Given the description of an element on the screen output the (x, y) to click on. 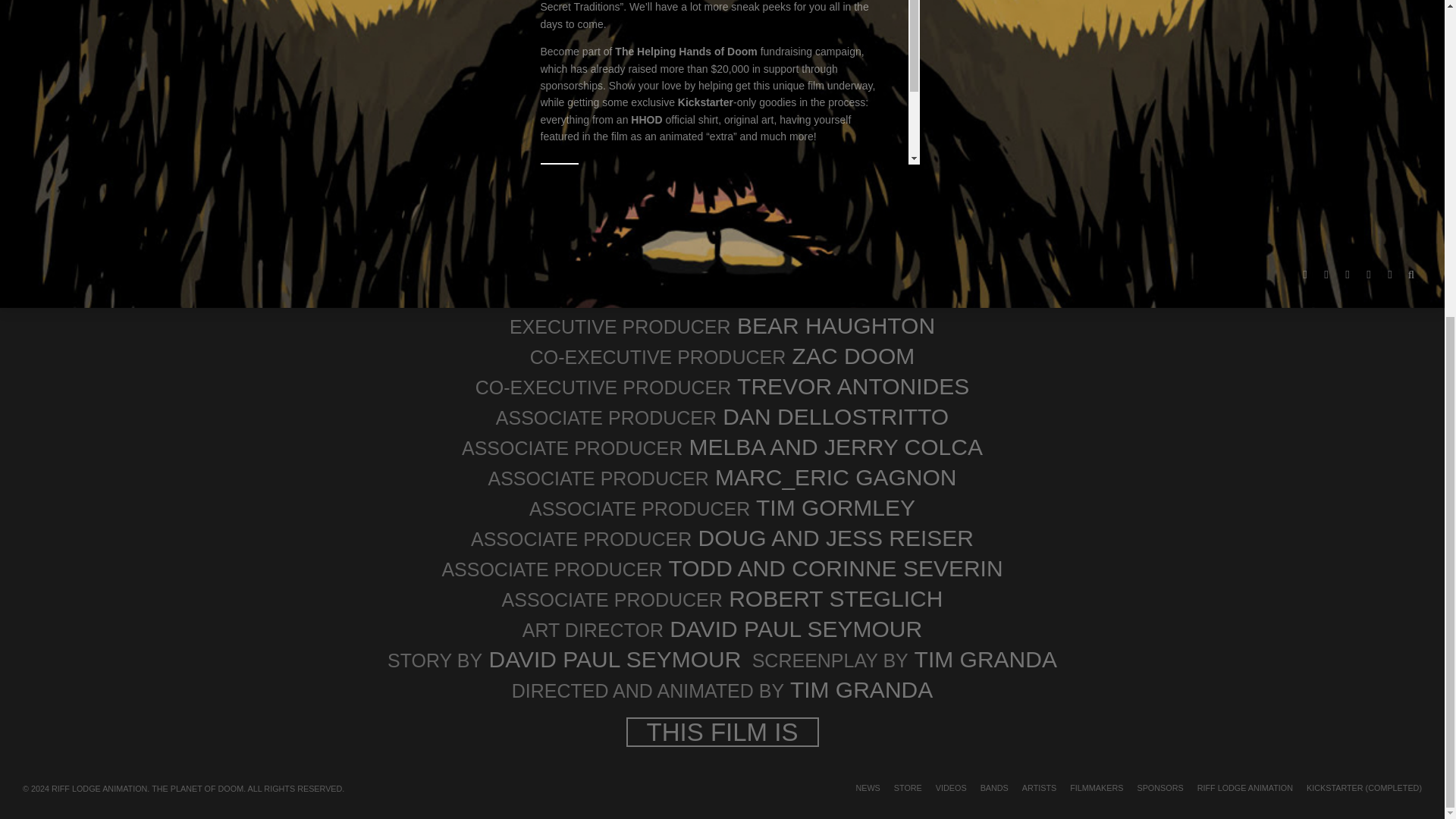
STORE (907, 276)
KICKSTARTER (631, 215)
GOYA (855, 202)
STONER ROCK (765, 215)
BANDS (994, 276)
NEWS (726, 188)
FILMMAKERS (1096, 276)
DOOM METAL (810, 202)
SIMON BERNDT (698, 215)
ARTISTS (1039, 276)
THE PLANET OF DOOM (664, 229)
SPONSORS (1159, 276)
NEWS (867, 276)
CHOPPERS (753, 202)
AN ANIMATED TALE OF METAL AND ART (644, 202)
